Given the description of an element on the screen output the (x, y) to click on. 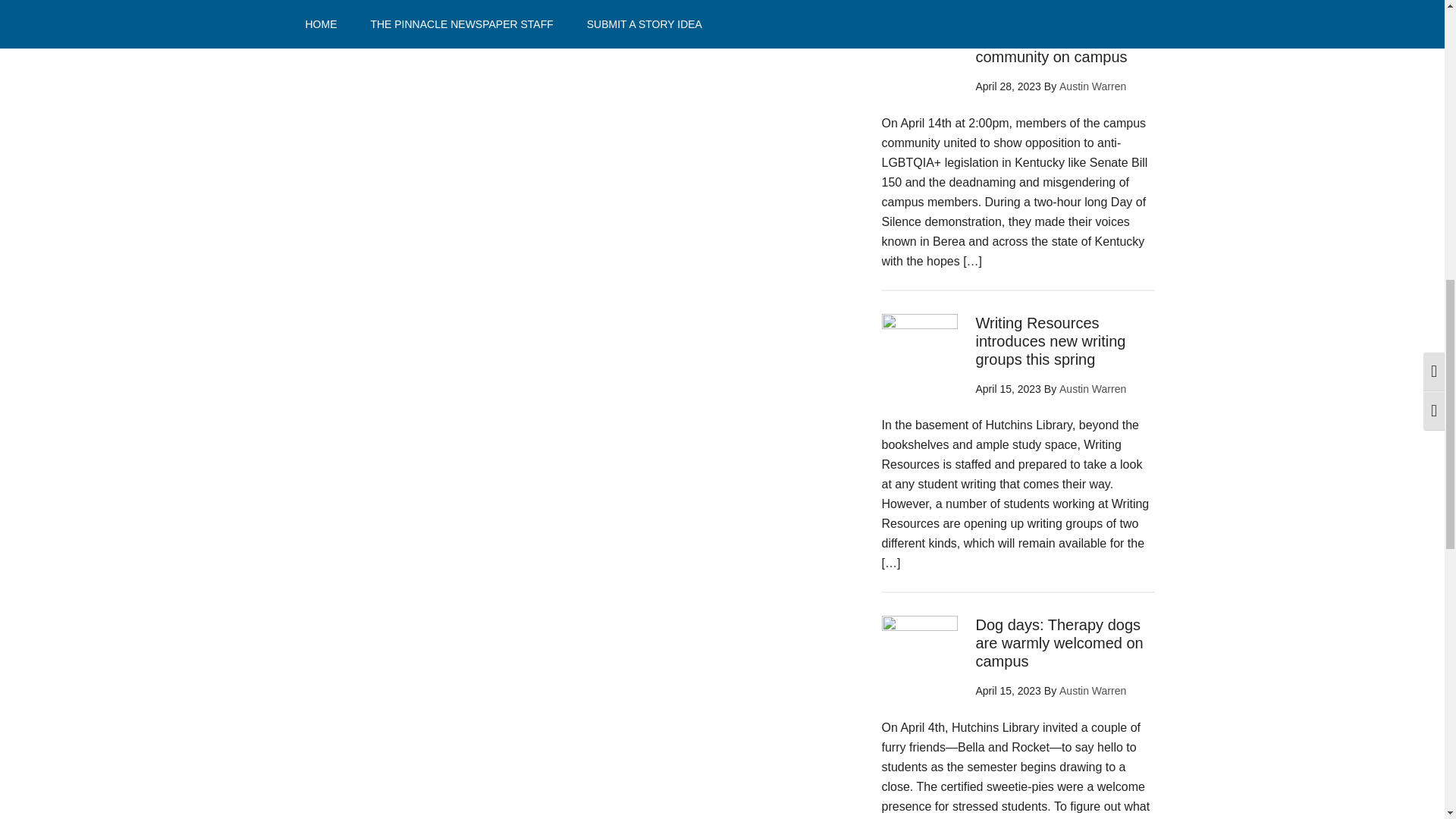
Austin Warren (1092, 388)
Austin Warren (1092, 690)
Dog days: Therapy dogs are warmly welcomed on campus (1058, 642)
Writing Resources introduces new writing groups this spring (1050, 340)
Day of Silence demonstration creates community on campus (1050, 38)
Austin Warren (1092, 86)
